Given the description of an element on the screen output the (x, y) to click on. 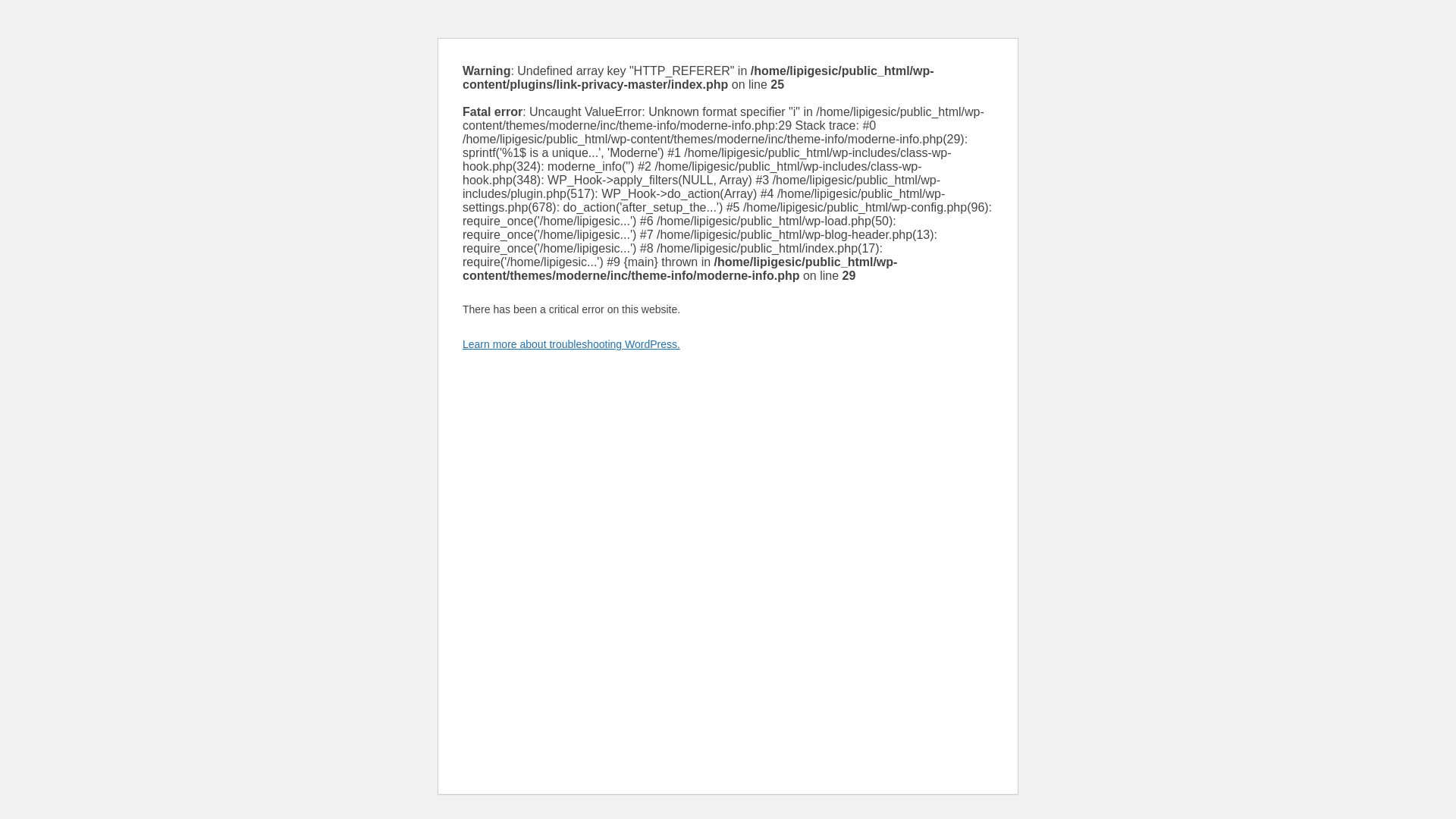
Learn more about troubleshooting WordPress. (571, 344)
